Given the description of an element on the screen output the (x, y) to click on. 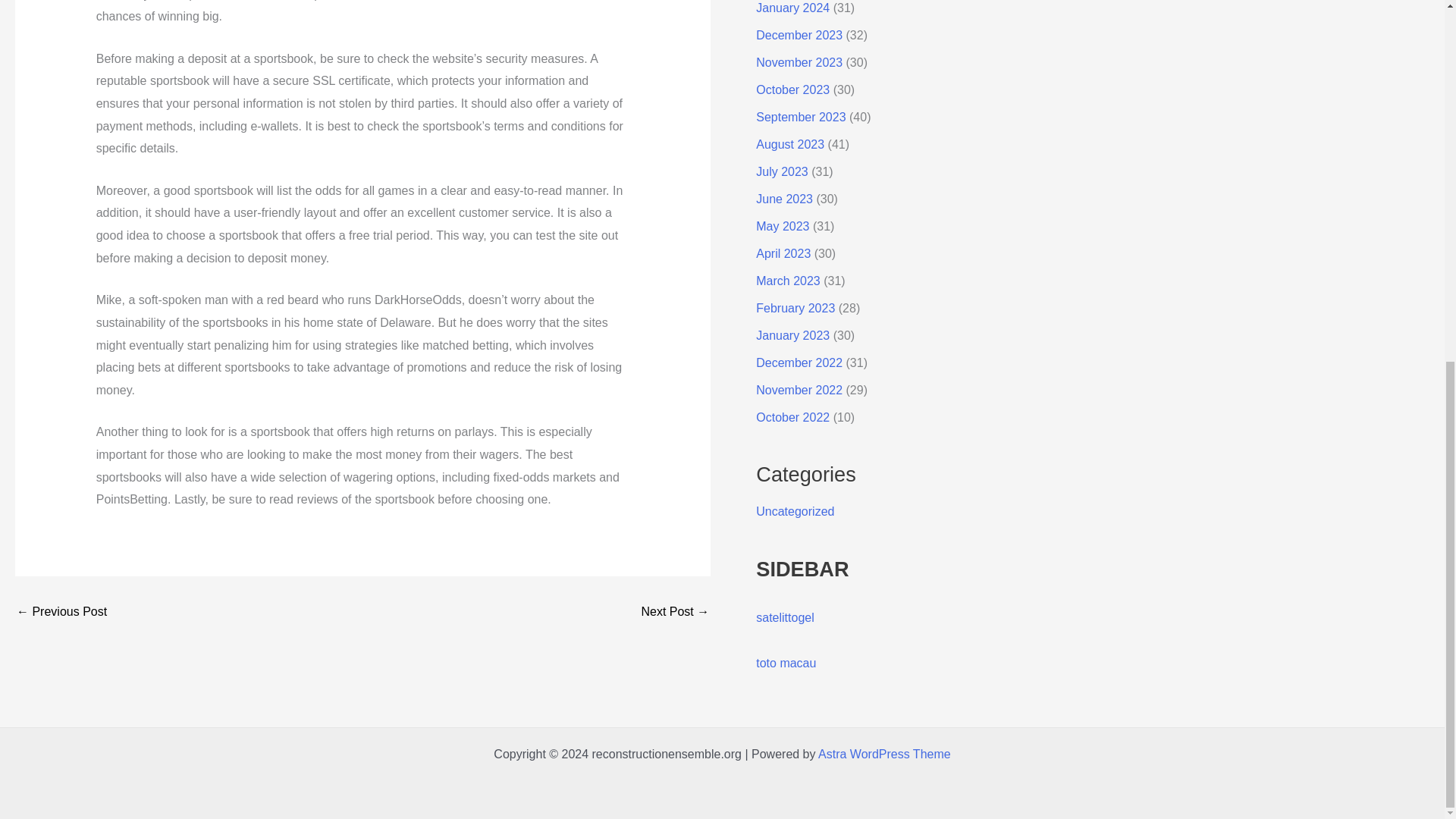
November 2023 (799, 62)
March 2023 (788, 280)
toto macau (785, 662)
June 2023 (783, 198)
July 2023 (781, 171)
November 2022 (799, 390)
January 2024 (792, 7)
December 2023 (799, 34)
January 2023 (792, 335)
satelittogel (784, 617)
